Given the description of an element on the screen output the (x, y) to click on. 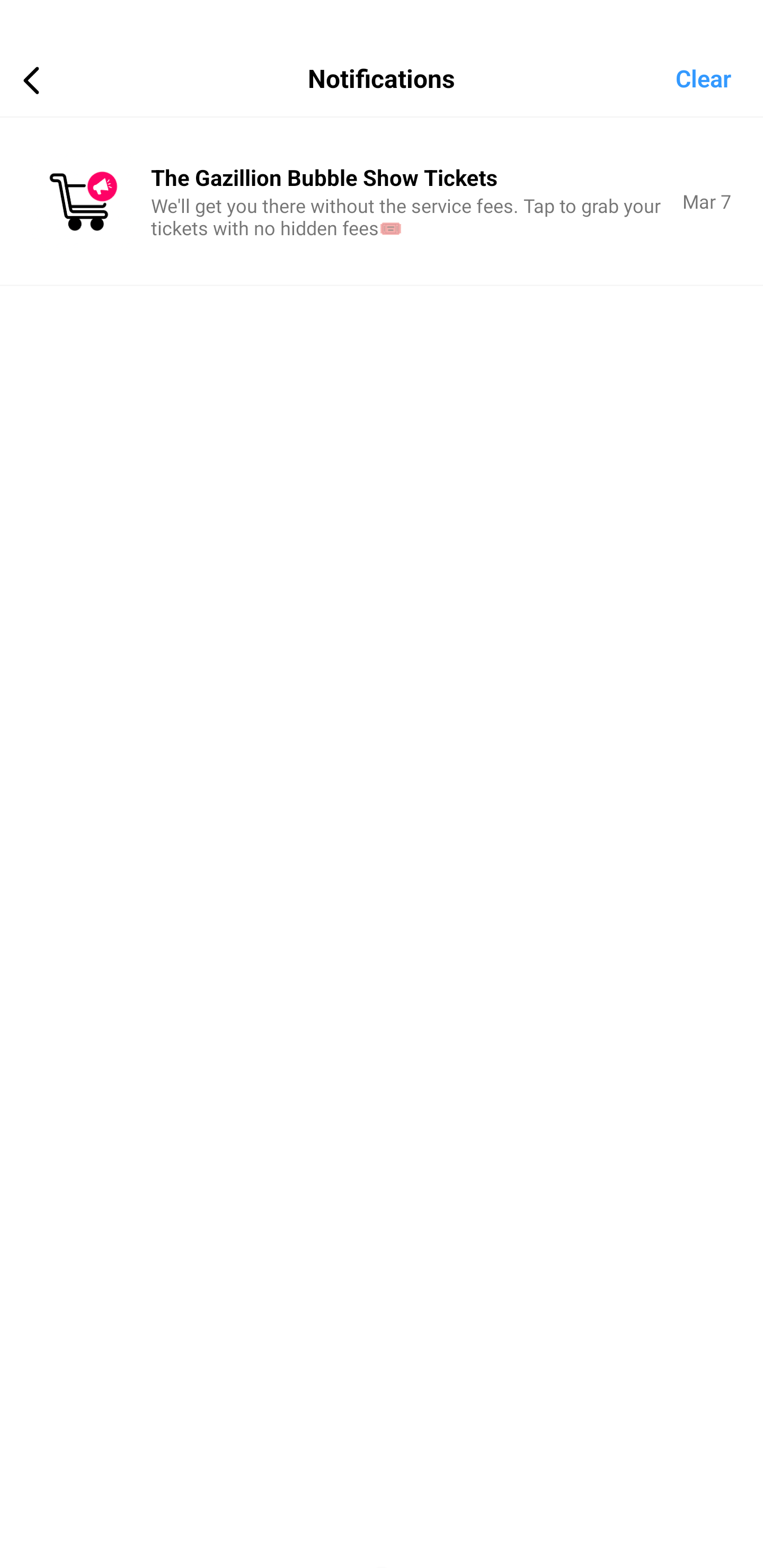
Clear (719, 77)
